Given the description of an element on the screen output the (x, y) to click on. 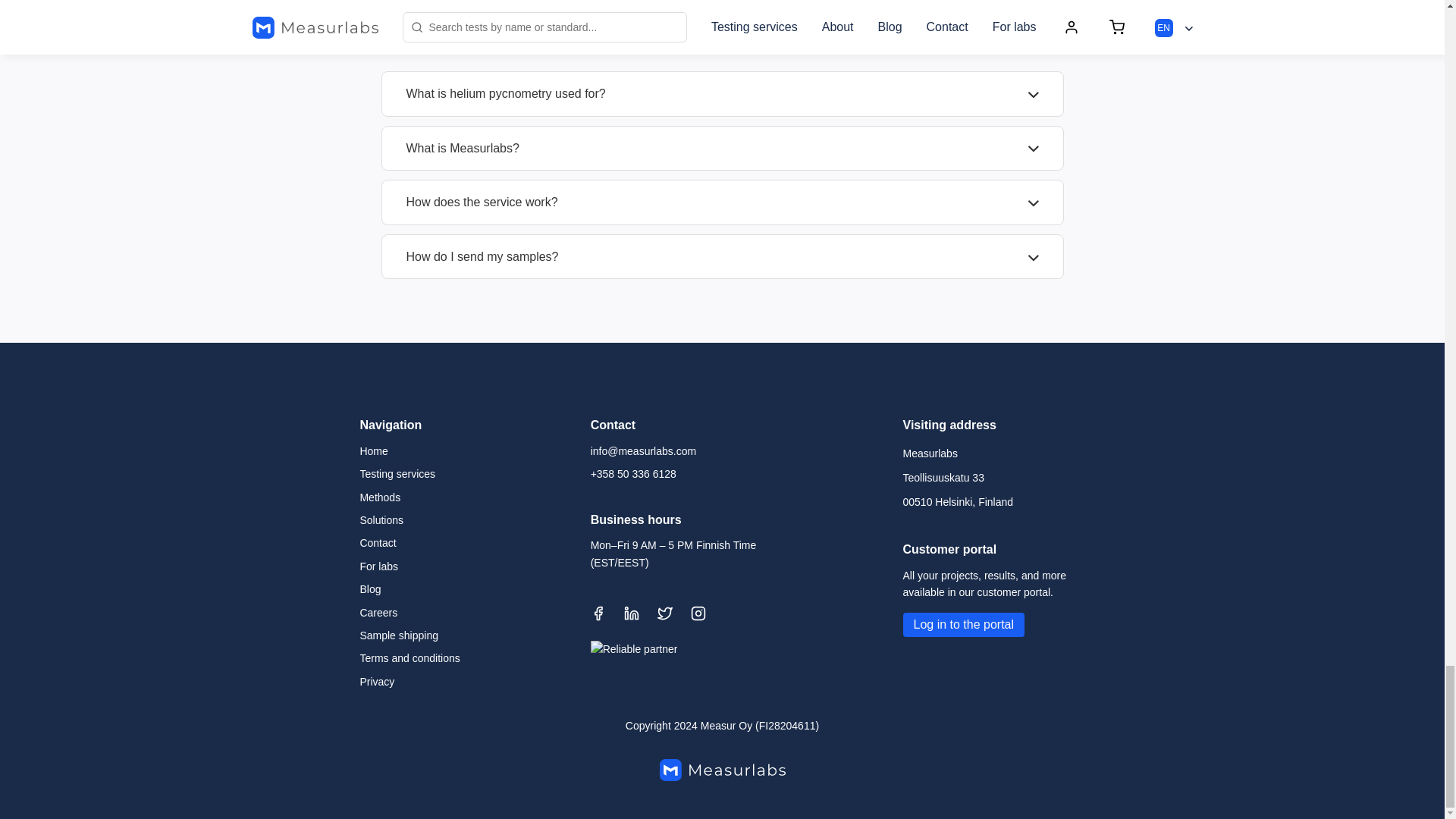
Home (373, 450)
Testing services (397, 473)
Methods (379, 497)
Solutions (381, 519)
Contact (377, 542)
